Given the description of an element on the screen output the (x, y) to click on. 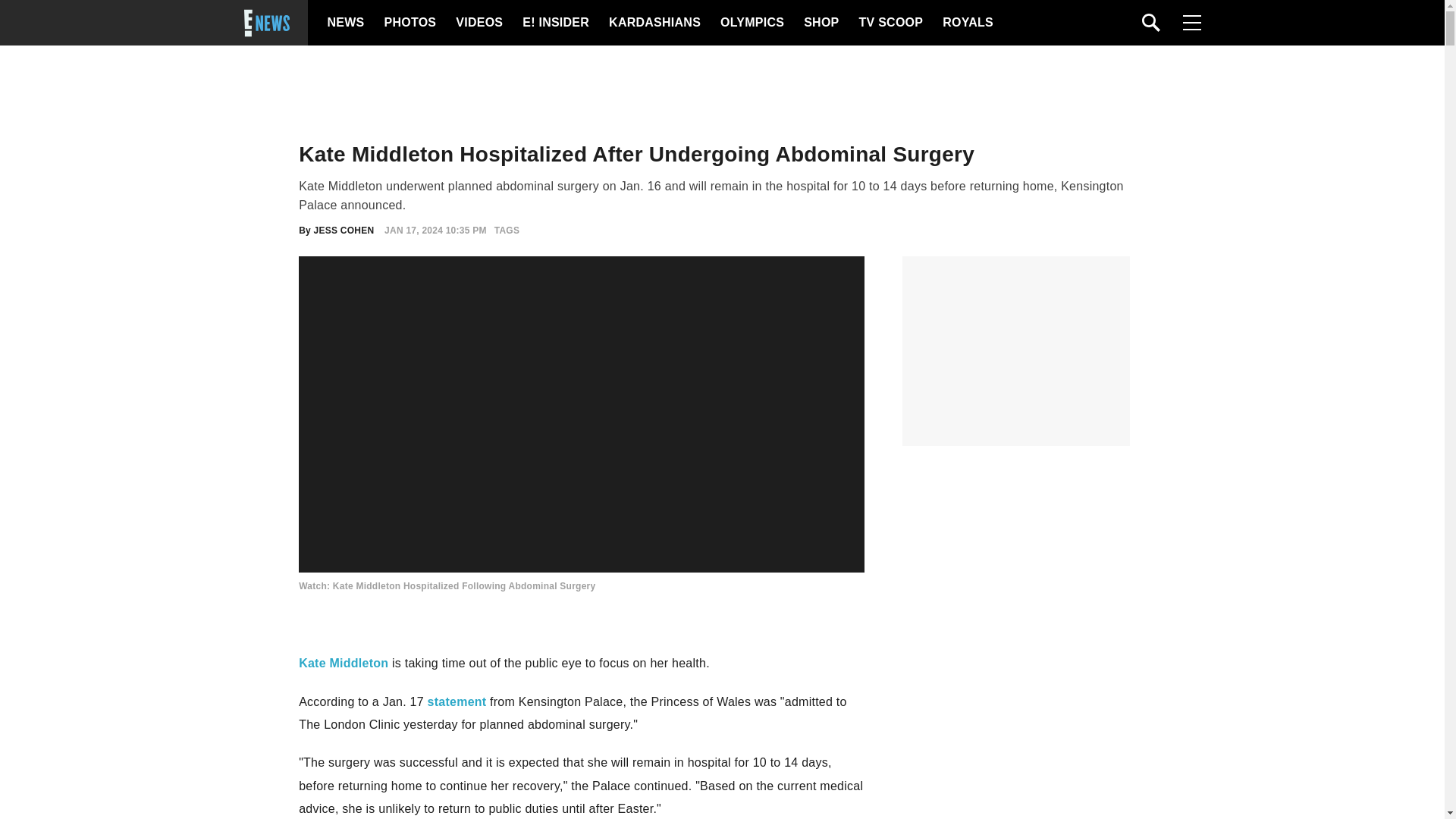
KARDASHIANS (653, 22)
statement (457, 701)
ROYALS (966, 22)
NEWS (345, 22)
VIDEOS (478, 22)
SHOP (820, 22)
Kate Middleton (343, 662)
OLYMPICS (751, 22)
TV SCOOP (890, 22)
E! INSIDER (555, 22)
